Given the description of an element on the screen output the (x, y) to click on. 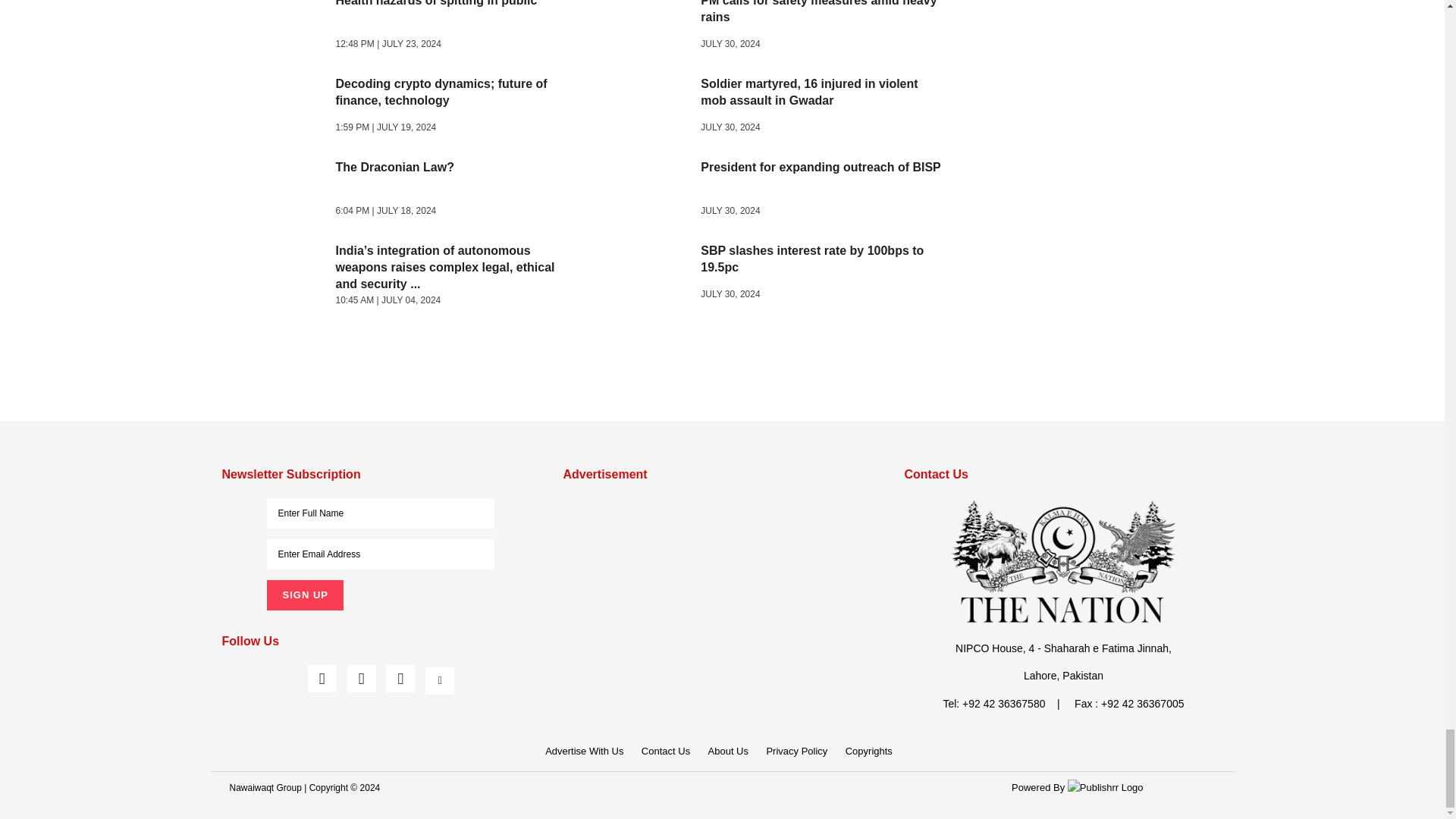
The Draconian Law? (278, 190)
PM calls for safety measures amid heavy rains (643, 28)
Sign up (304, 594)
President for expanding outreach of BISP (643, 190)
Decoding crypto dynamics; future of finance, technology (278, 108)
Health hazards of spitting in public (278, 28)
SBP slashes interest rate by 100bps to 19.5pc (643, 274)
